Given the description of an element on the screen output the (x, y) to click on. 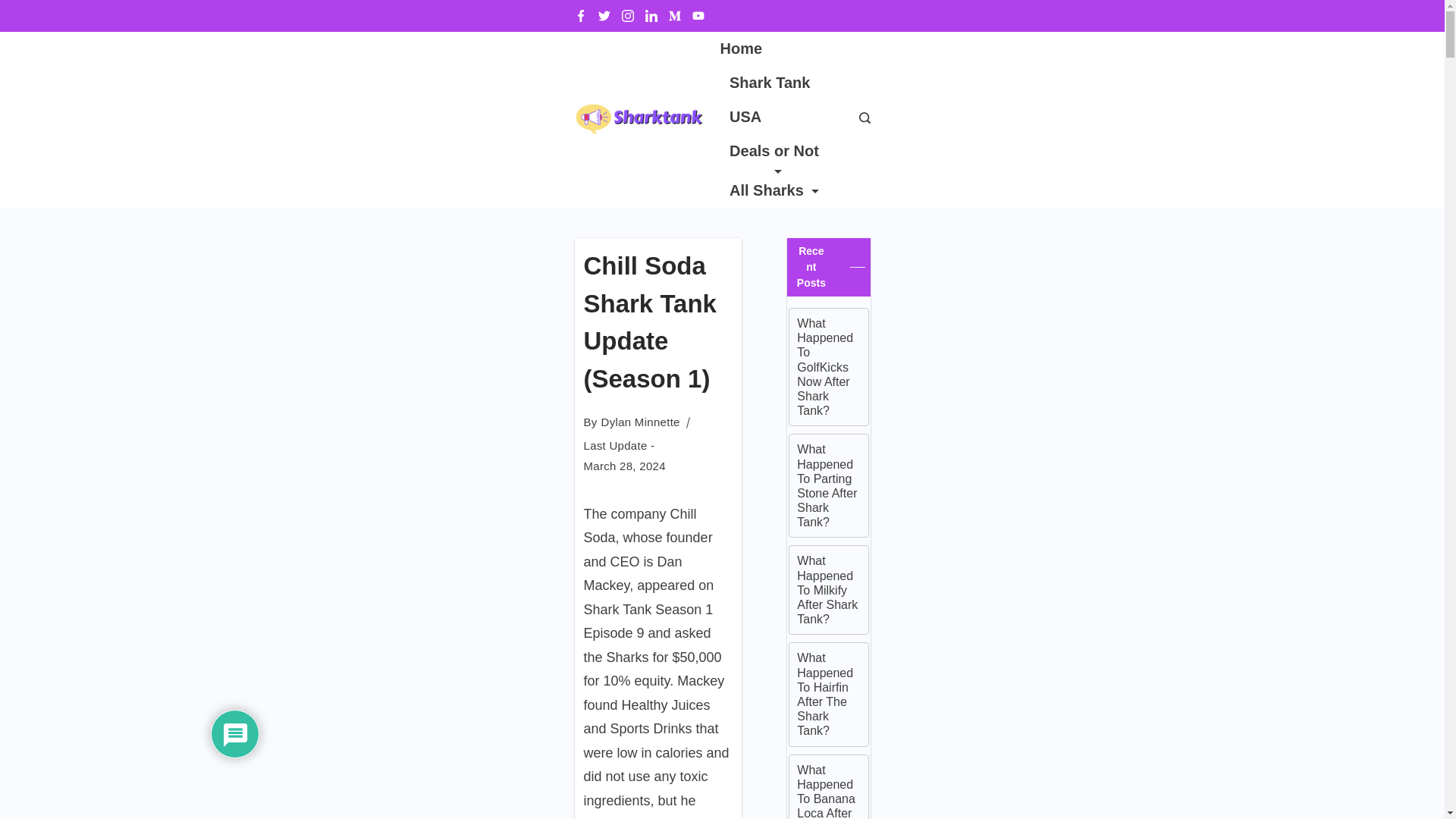
Dylan Minnette (640, 421)
Home (745, 48)
Shark Tank USA (774, 100)
All Sharks (769, 190)
Deals or Not (774, 153)
